Given the description of an element on the screen output the (x, y) to click on. 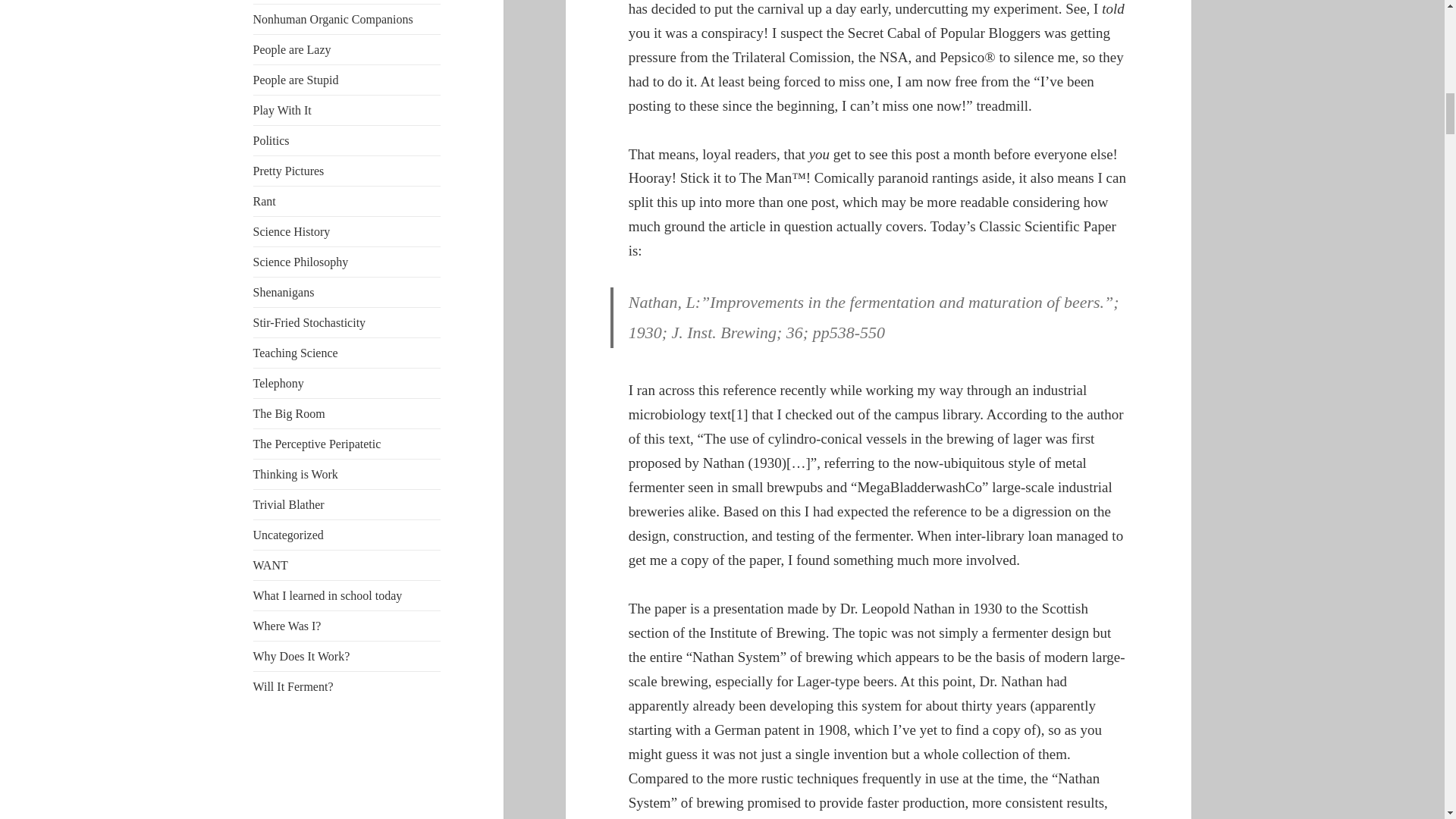
Rant (264, 201)
Play With It (282, 110)
Pretty Pictures (288, 170)
People are Stupid (296, 79)
People are Lazy (292, 49)
Nonhuman Organic Companions (333, 19)
Politics (271, 140)
